Given the description of an element on the screen output the (x, y) to click on. 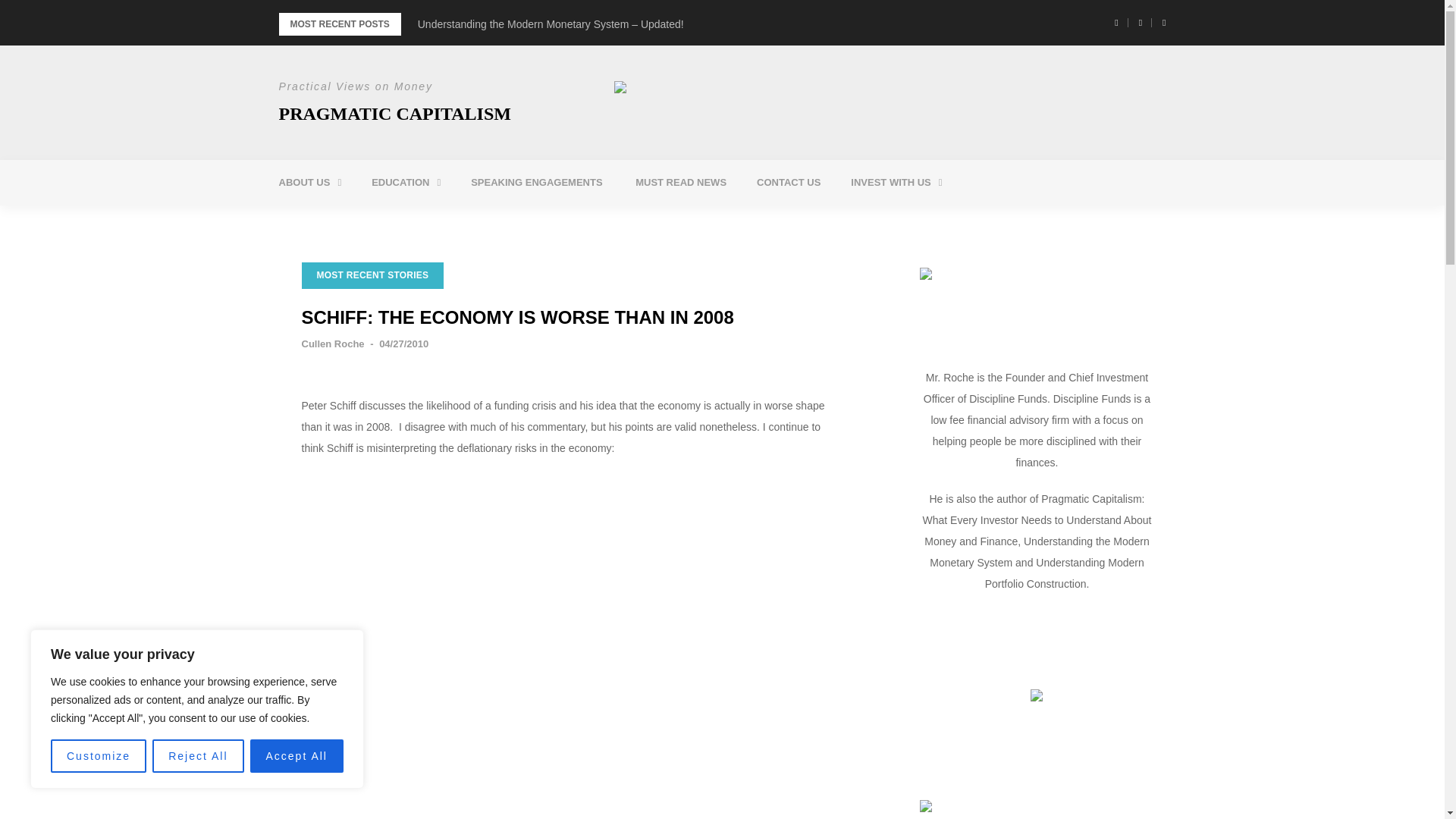
Meet Cullen Roche! (365, 220)
About Us (309, 182)
PRAGMATIC CAPITALISM (395, 113)
ABOUT US (309, 182)
Accept All (296, 756)
Meet Cullen Roche! (365, 220)
Reject All (197, 756)
Customize (98, 756)
Understanding Money (458, 220)
EDUCATION (405, 182)
